Given the description of an element on the screen output the (x, y) to click on. 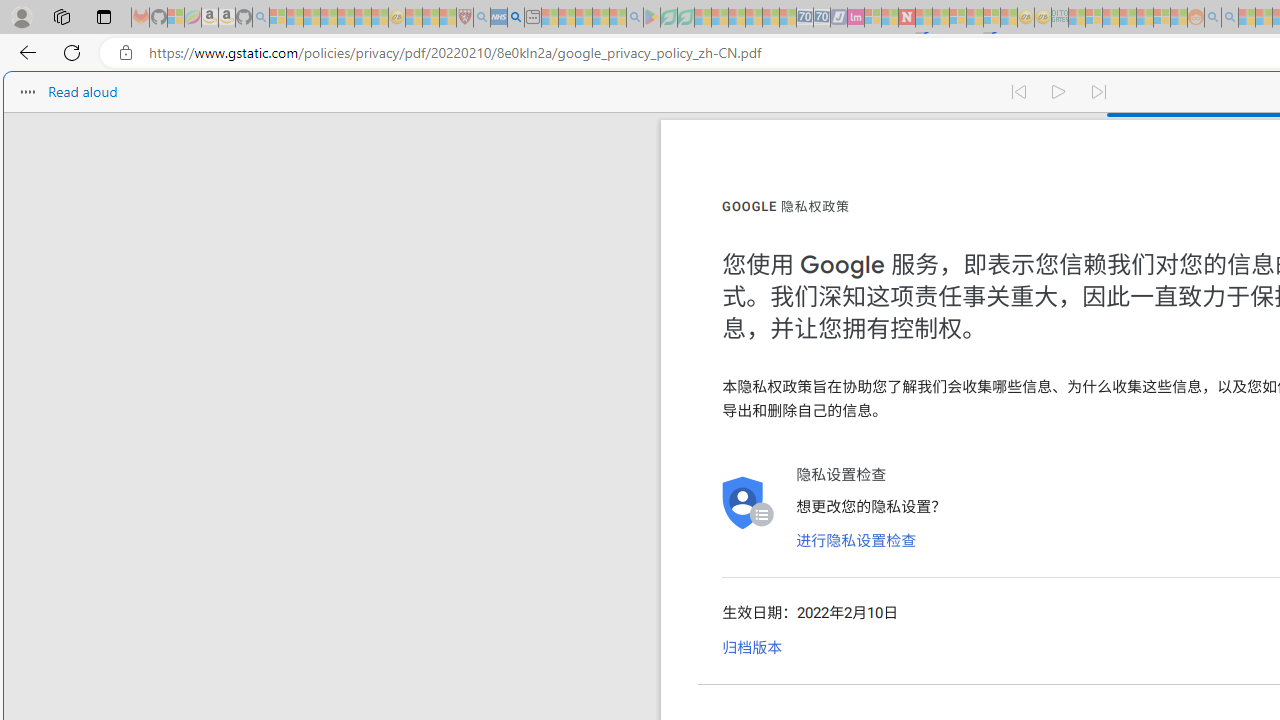
Bluey: Let's Play! - Apps on Google Play - Sleeping (651, 17)
Continue to read aloud (Ctrl+Shift+U) (1059, 92)
Read previous paragraph (1018, 92)
Read next paragraph (1099, 92)
